Given the description of an element on the screen output the (x, y) to click on. 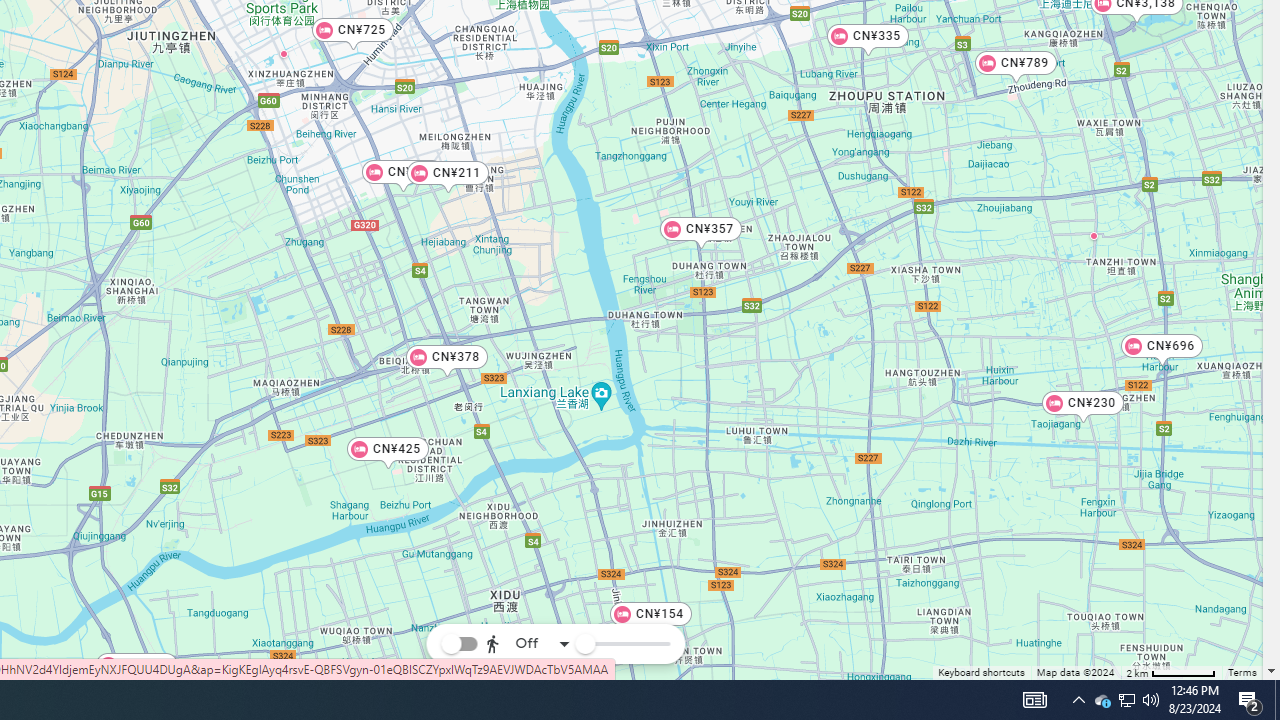
Map Scale: 2 km per 61 pixels (1171, 672)
Hanting Premium Hotel Shanghai Xinzhuang Business (283, 53)
Reachability slider (584, 644)
Drive (523, 588)
Off (527, 643)
Venus International Hotel Shanghai South Shenjiang Road (1093, 235)
Walk (523, 544)
